Given the description of an element on the screen output the (x, y) to click on. 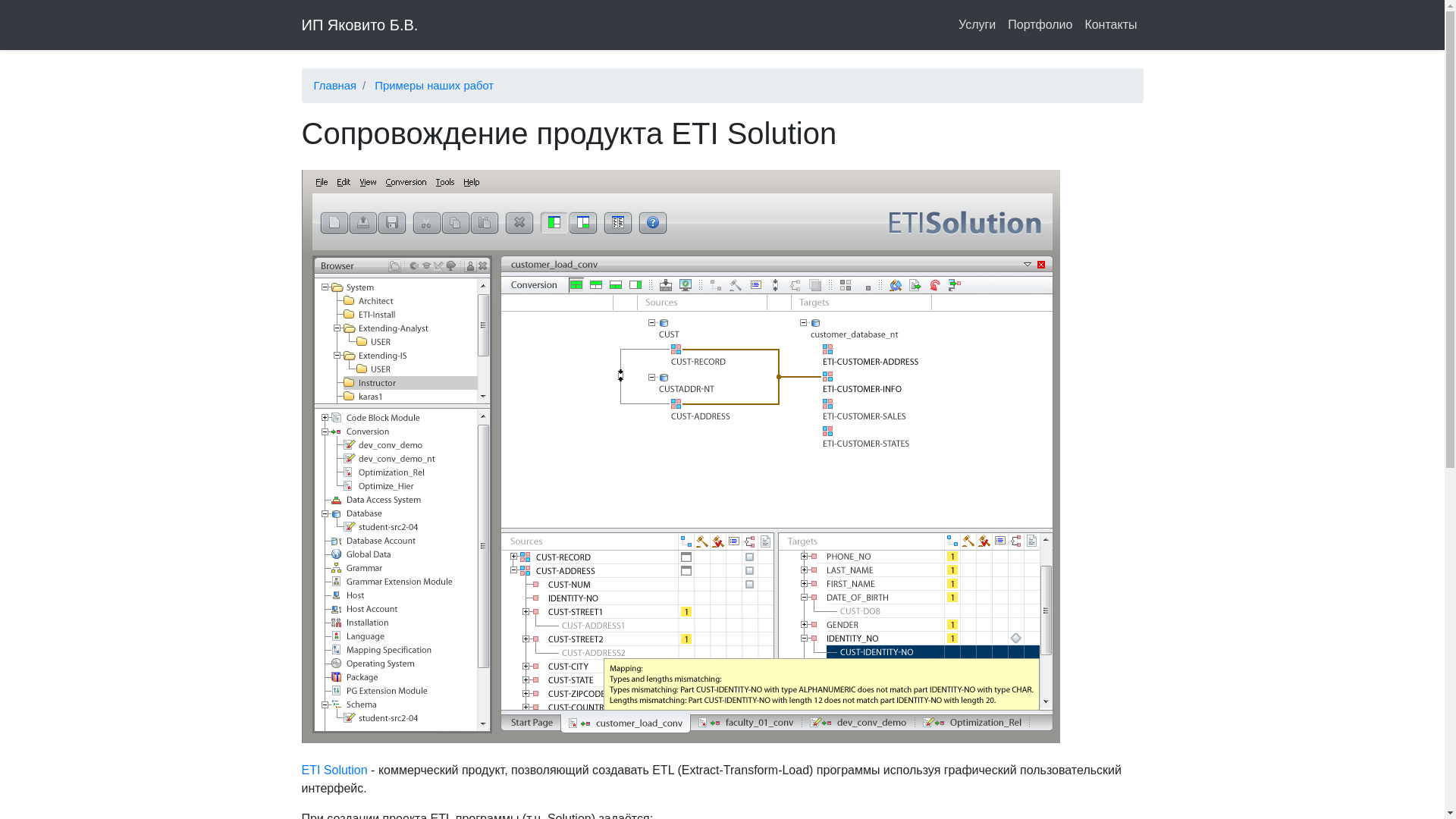
ETI Solution Element type: text (334, 769)
